Given the description of an element on the screen output the (x, y) to click on. 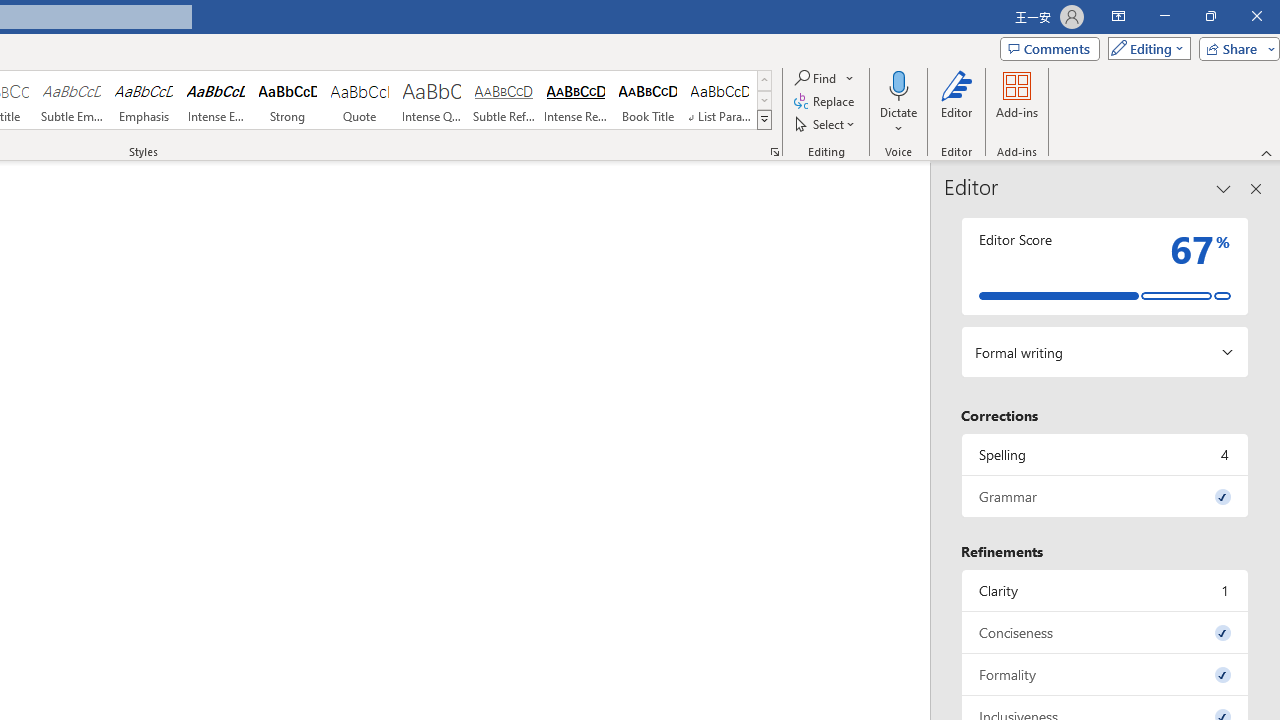
Editor Score 67% (1105, 266)
Formality, 0 issues. Press space or enter to review items. (1105, 673)
Spelling, 4 issues. Press space or enter to review items. (1105, 454)
Find (824, 78)
Editor (956, 102)
Share (1235, 48)
Class: NetUIImage (765, 119)
Quote (359, 100)
Conciseness, 0 issues. Press space or enter to review items. (1105, 632)
Intense Emphasis (216, 100)
